Given the description of an element on the screen output the (x, y) to click on. 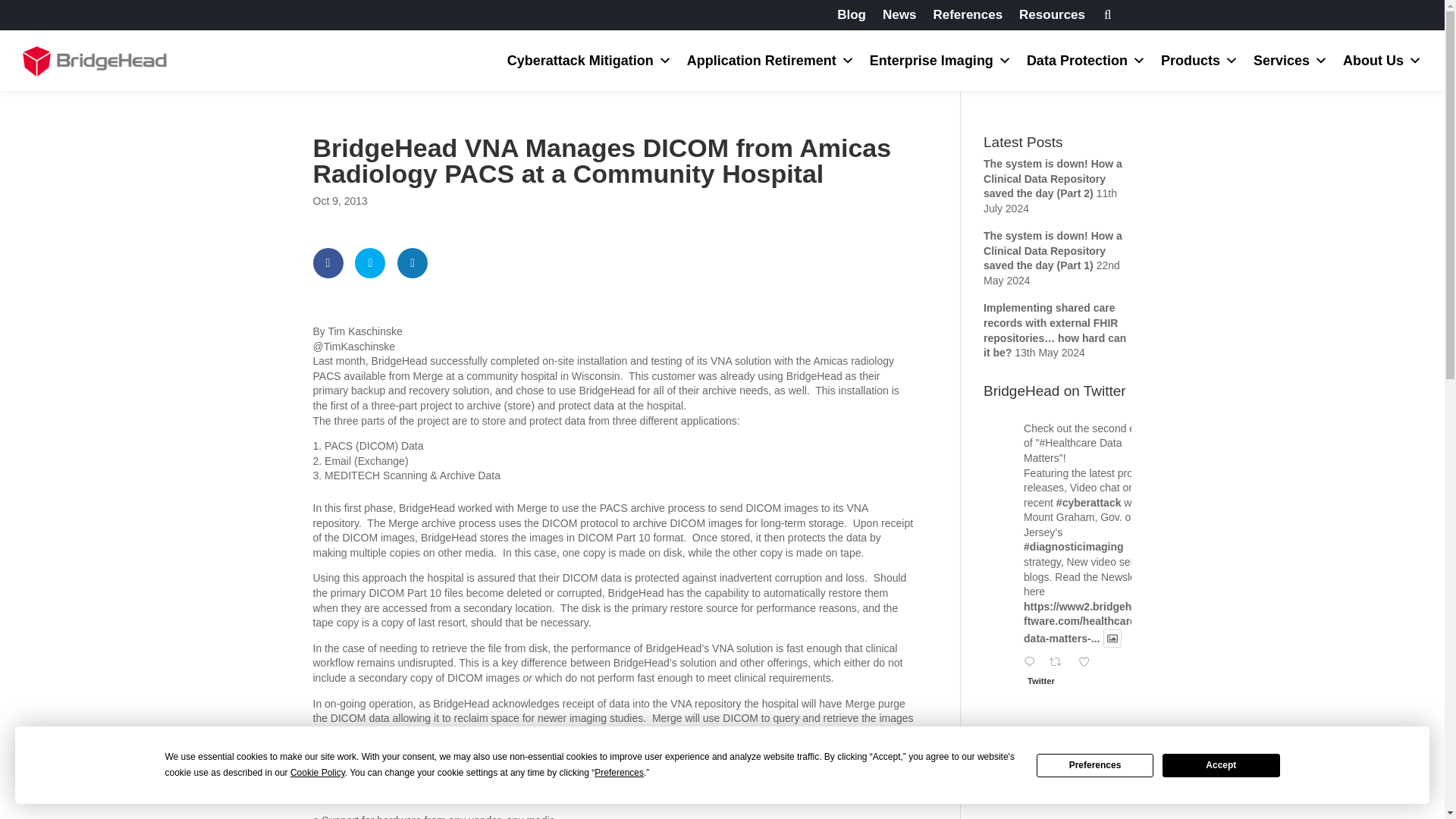
News (898, 17)
Services (1290, 60)
References (968, 17)
Products (1199, 60)
Application Retirement (770, 60)
Enterprise Imaging (940, 60)
Accept (1220, 765)
Cyberattack Mitigation (589, 60)
Blog (851, 17)
Resources (1051, 17)
Data Protection (1086, 60)
Preferences (1094, 765)
